Given the description of an element on the screen output the (x, y) to click on. 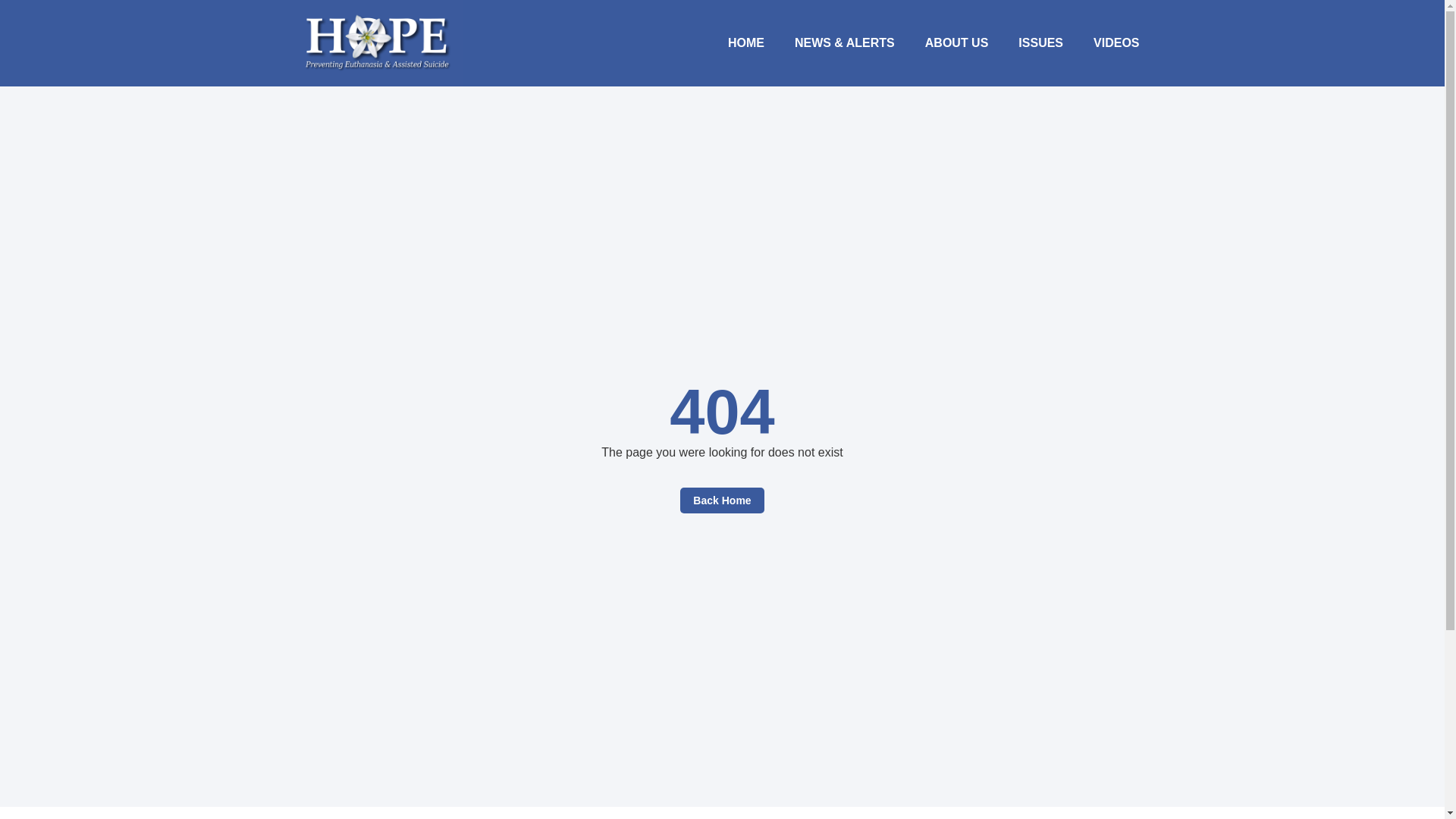
ISSUES (1040, 42)
HOME (745, 42)
Back Home (720, 500)
VIDEOS (1116, 42)
ABOUT US (957, 42)
